Given the description of an element on the screen output the (x, y) to click on. 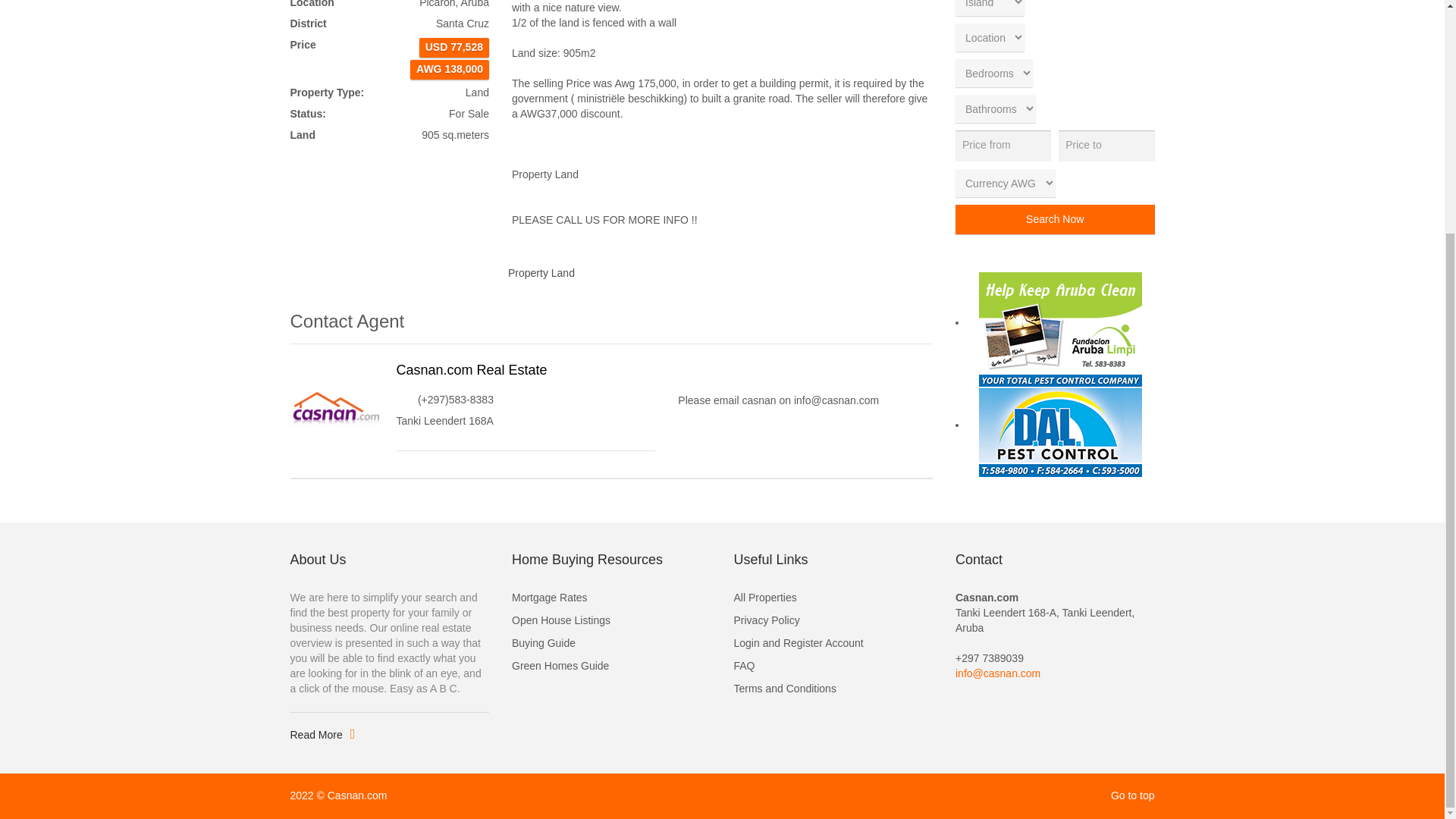
Mortgage Rates (611, 598)
Read More (322, 735)
All Properties (833, 598)
Privacy Policy (833, 620)
Login and Register Account (833, 643)
Terms and Conditions (833, 689)
Go to top (1132, 795)
Buying Guide (611, 643)
Open House Listings (611, 620)
FAQ (833, 666)
